Given the description of an element on the screen output the (x, y) to click on. 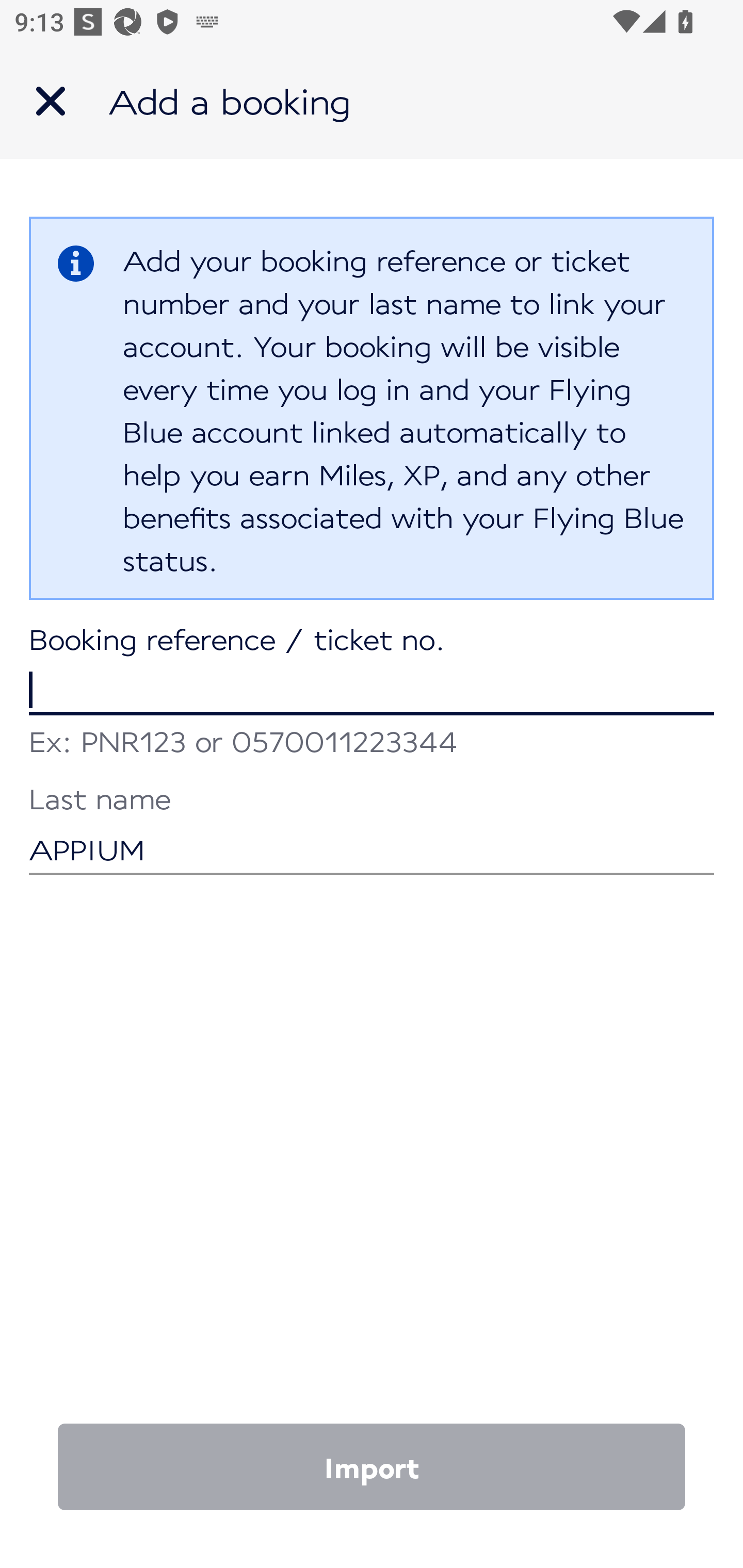
Booking reference / ticket no. (371, 671)
APPIUM (371, 831)
Import (371, 1466)
